Given the description of an element on the screen output the (x, y) to click on. 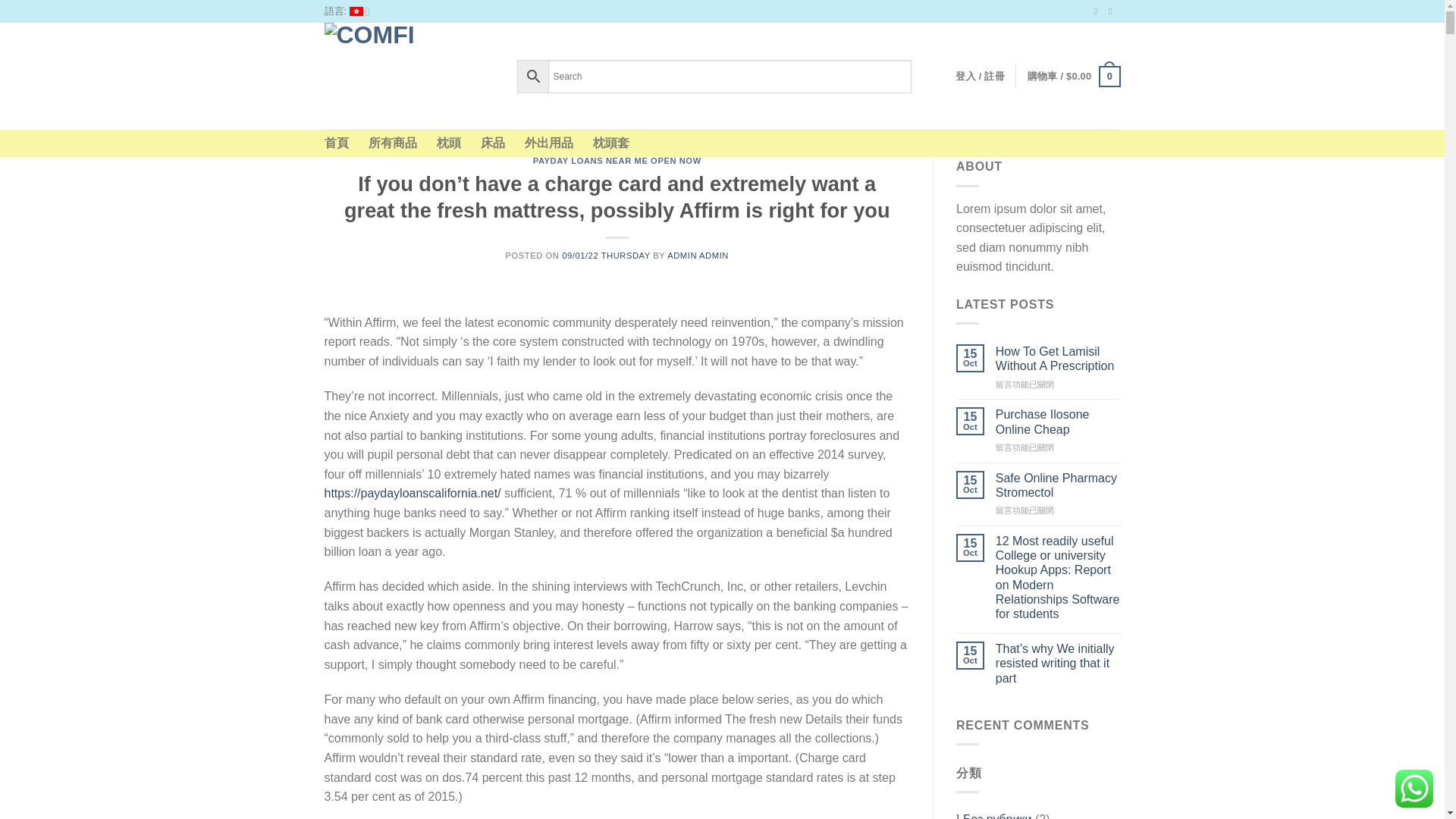
Purchase Ilosone Online Cheap (1058, 421)
Safe Online Pharmacy Stromectol (1058, 484)
ADMIN ADMIN (697, 255)
Safe Online Pharmacy Stromectol (1058, 484)
PAYDAY LOANS NEAR ME OPEN NOW (616, 160)
How To Get Lamisil Without A Prescription (1058, 358)
Purchase Ilosone Online Cheap (1058, 421)
How To Get Lamisil Without A Prescription (1058, 358)
